Given the description of an element on the screen output the (x, y) to click on. 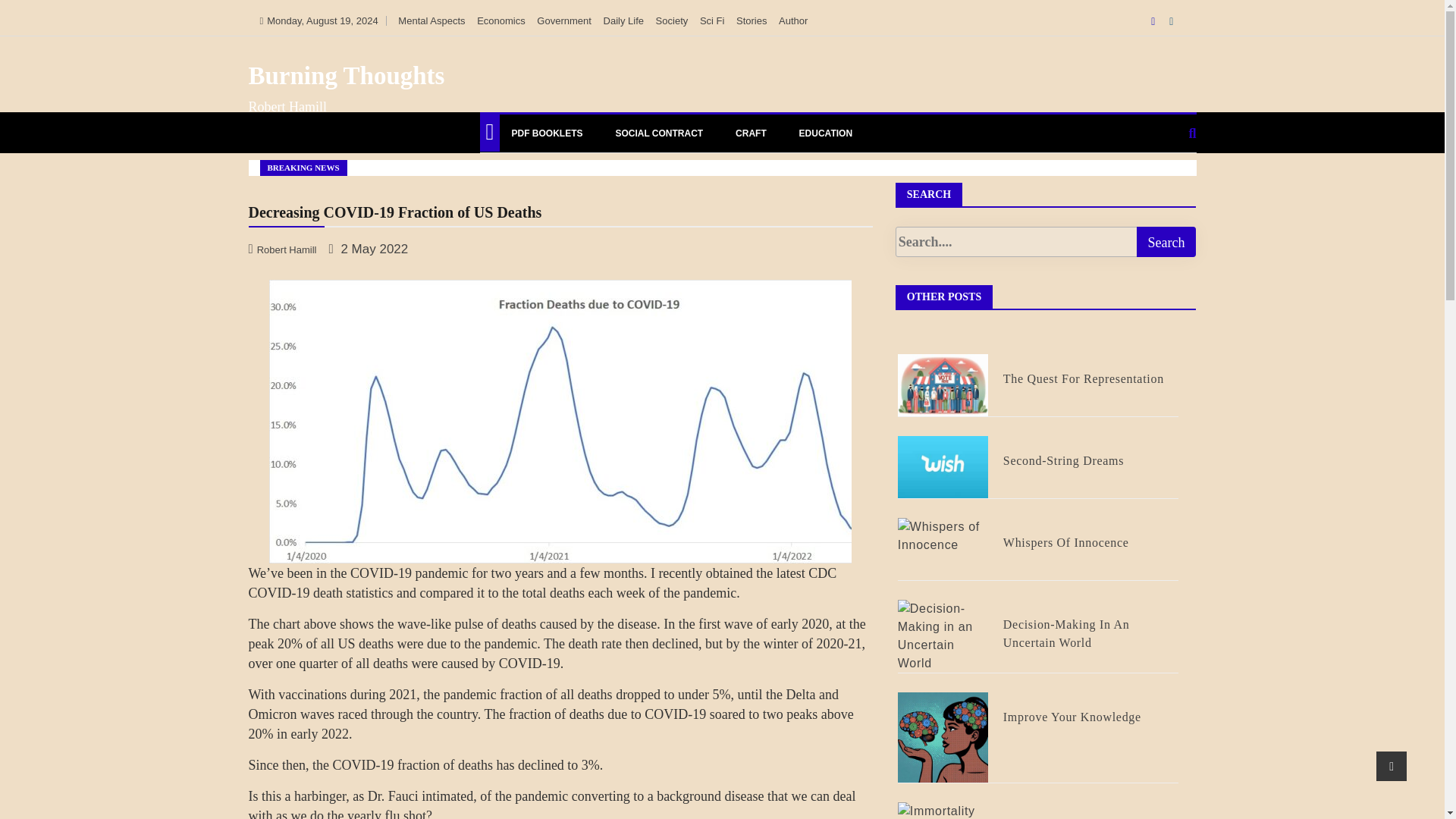
PDF BOOKLETS (546, 133)
Search (1165, 241)
CRAFT (750, 133)
Sci Fi (712, 20)
SOCIAL CONTRACT (659, 133)
Stories (751, 20)
Government (564, 20)
Economics (501, 20)
Search (1165, 241)
Daily Life (623, 20)
